Given the description of an element on the screen output the (x, y) to click on. 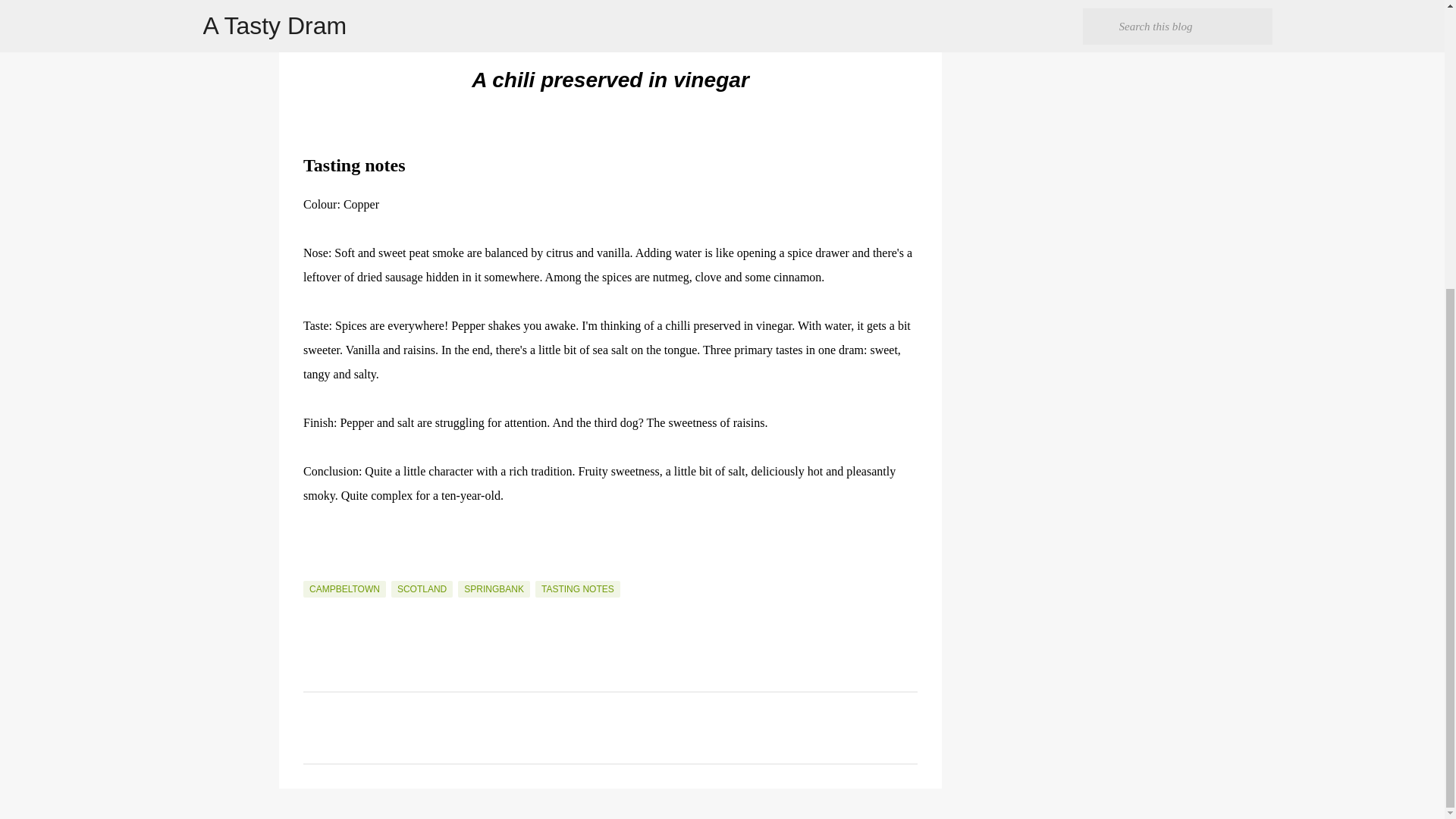
Email Post (311, 571)
TASTING NOTES (577, 588)
CAMPBELTOWN (343, 588)
SCOTLAND (421, 588)
SPRINGBANK (493, 588)
